Given the description of an element on the screen output the (x, y) to click on. 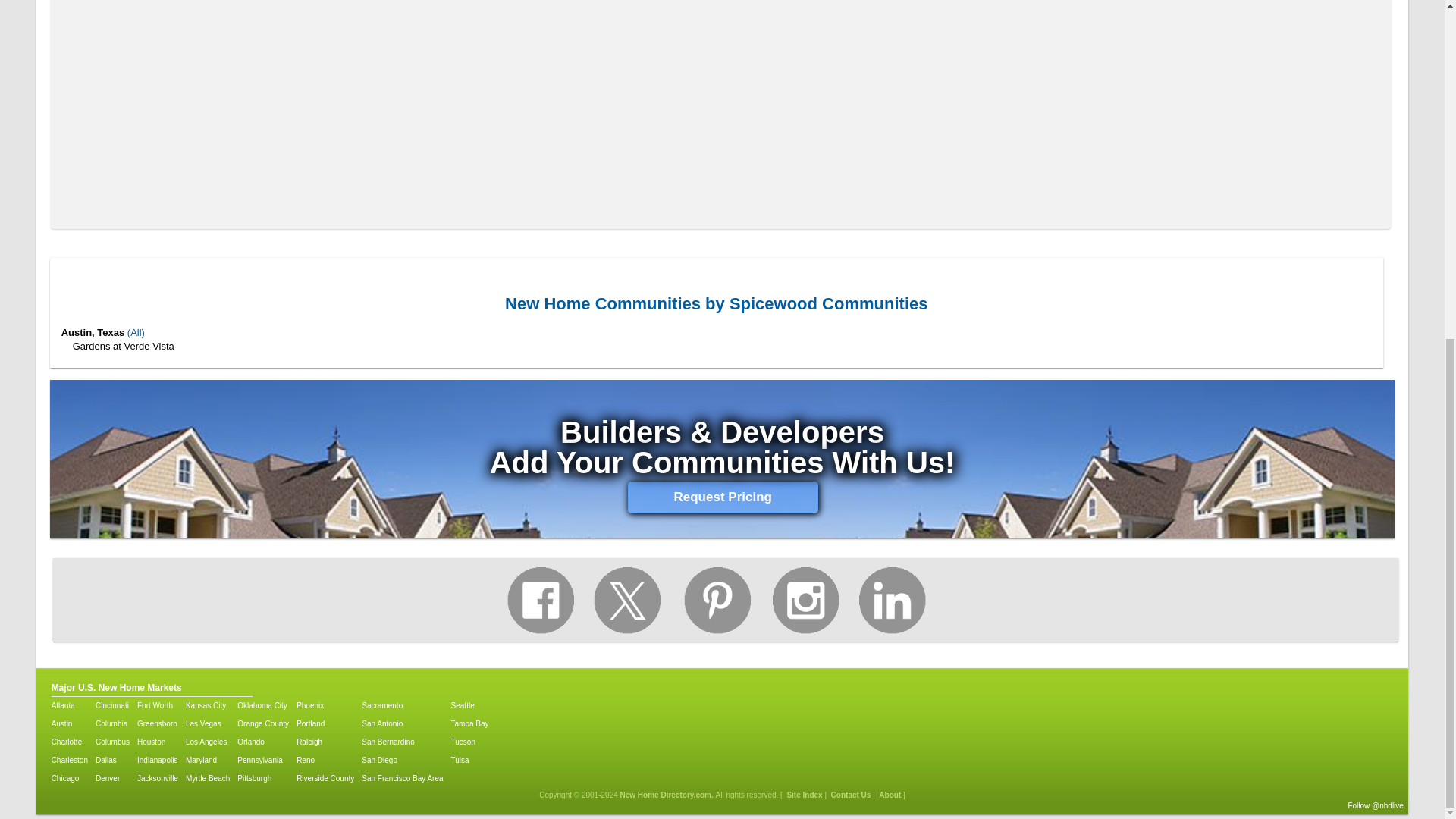
Greensboro homes for sale (156, 724)
New Homes Directory Linked In Page (891, 603)
Fort Worth (156, 706)
Houston (156, 742)
Request Pricing (722, 497)
Chicago homes for sale (68, 778)
Cincinnati (112, 706)
Charlotte homes for sale (68, 742)
Austin homes for sale (68, 724)
Kansas City (208, 706)
Fort Worth homes for sale (156, 706)
Austin (68, 724)
Jacksonville (156, 778)
New Homes Directory Pinterest Page (716, 603)
Cincinnati homes for sale (112, 706)
